Given the description of an element on the screen output the (x, y) to click on. 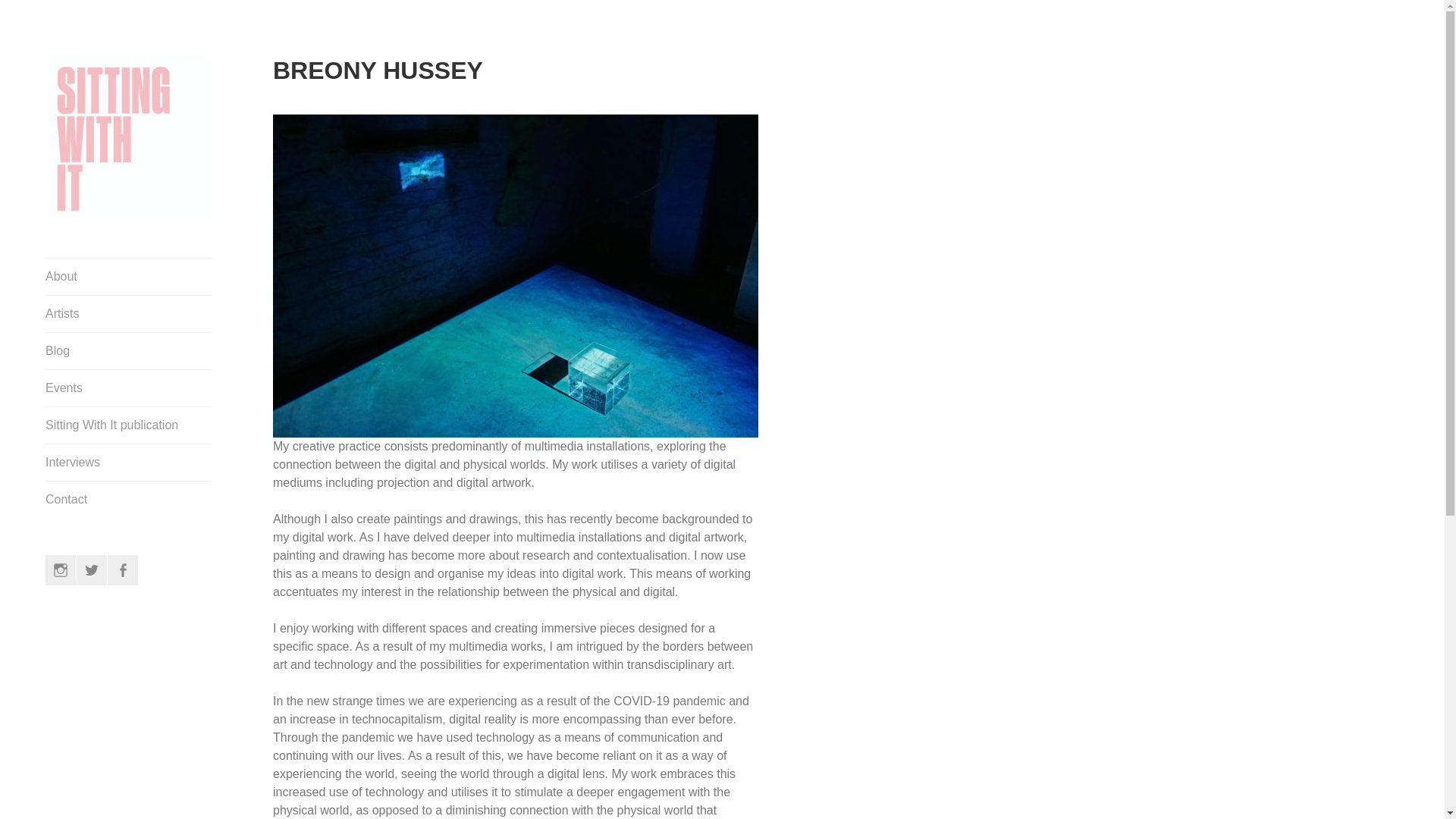
Interviews (128, 462)
Events (128, 388)
Twitter (91, 570)
About (128, 276)
Blog (128, 350)
Contact (128, 499)
Artists (128, 313)
Sitting With It publication (128, 425)
Facebook (122, 570)
Instagram (60, 570)
